Given the description of an element on the screen output the (x, y) to click on. 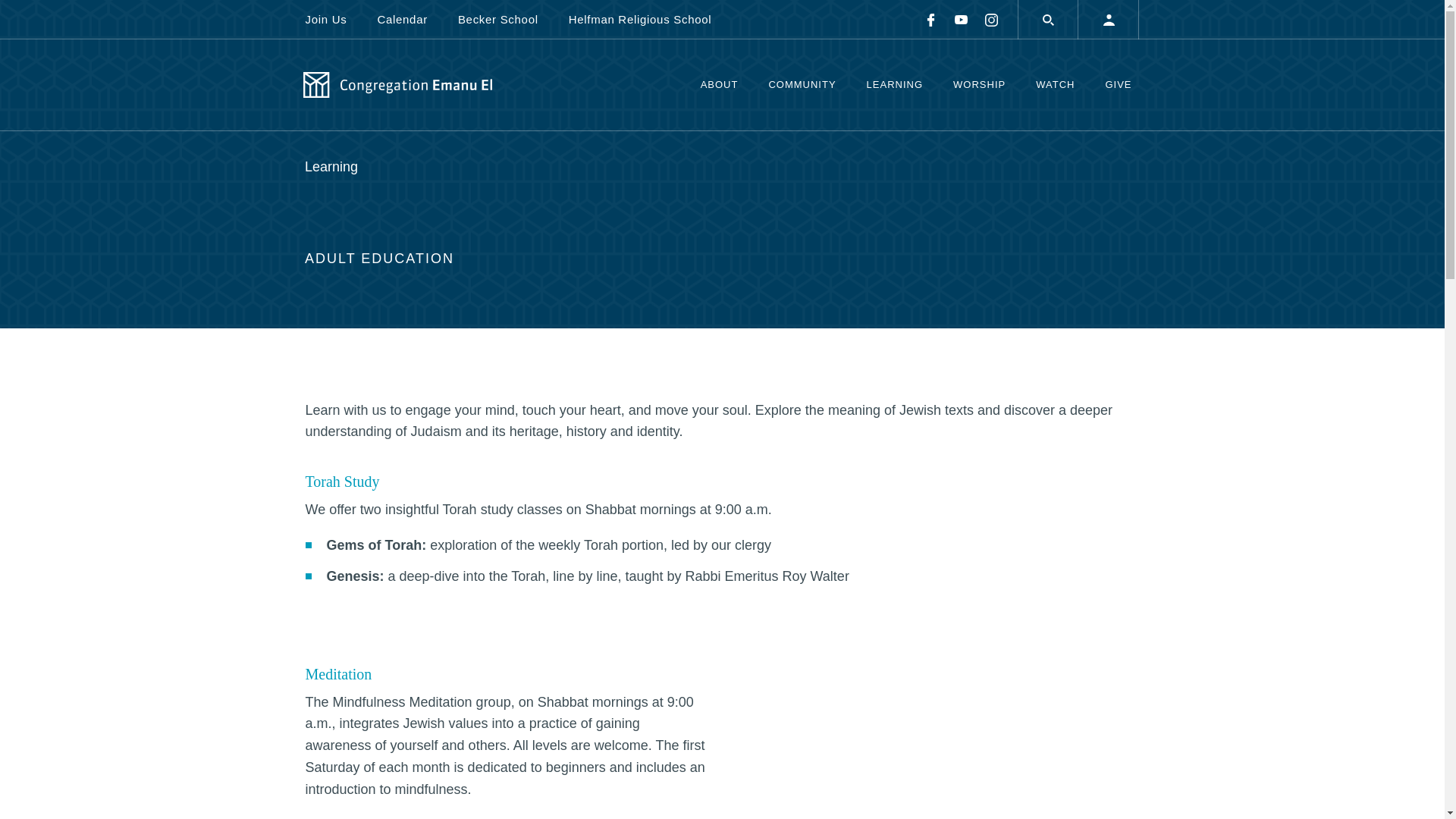
COMMUNITY (801, 84)
WATCH (1054, 84)
WORSHIP (978, 84)
Helfman Religious School (639, 19)
Login (1108, 19)
LEARNING (894, 84)
Calendar (401, 19)
Search (1047, 19)
Becker School (497, 19)
ABOUT (719, 84)
Join Us (332, 19)
GIVE (1118, 84)
